Given the description of an element on the screen output the (x, y) to click on. 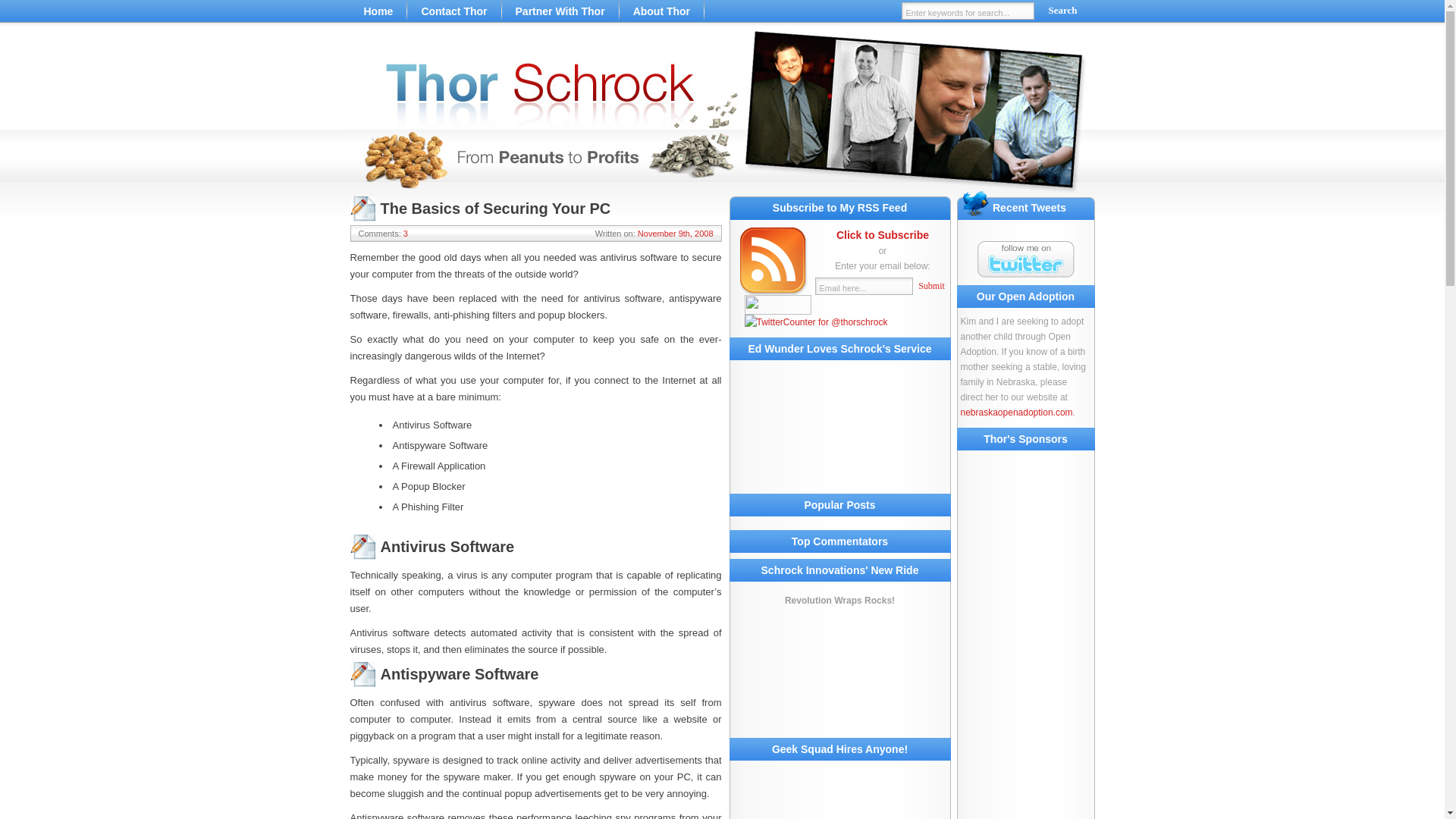
Submit (930, 285)
Click to Subscribe (881, 235)
Peanuts to Profits With Thor Schrock (722, 113)
nebraskaopenadoption.com (1015, 412)
About Thor (661, 11)
Home (378, 11)
Contact Thor (453, 11)
Submit (930, 285)
Search (1063, 10)
Search (1063, 10)
Partner With Thor (560, 11)
Enter keywords for search... (967, 10)
Email here... (862, 285)
